Given the description of an element on the screen output the (x, y) to click on. 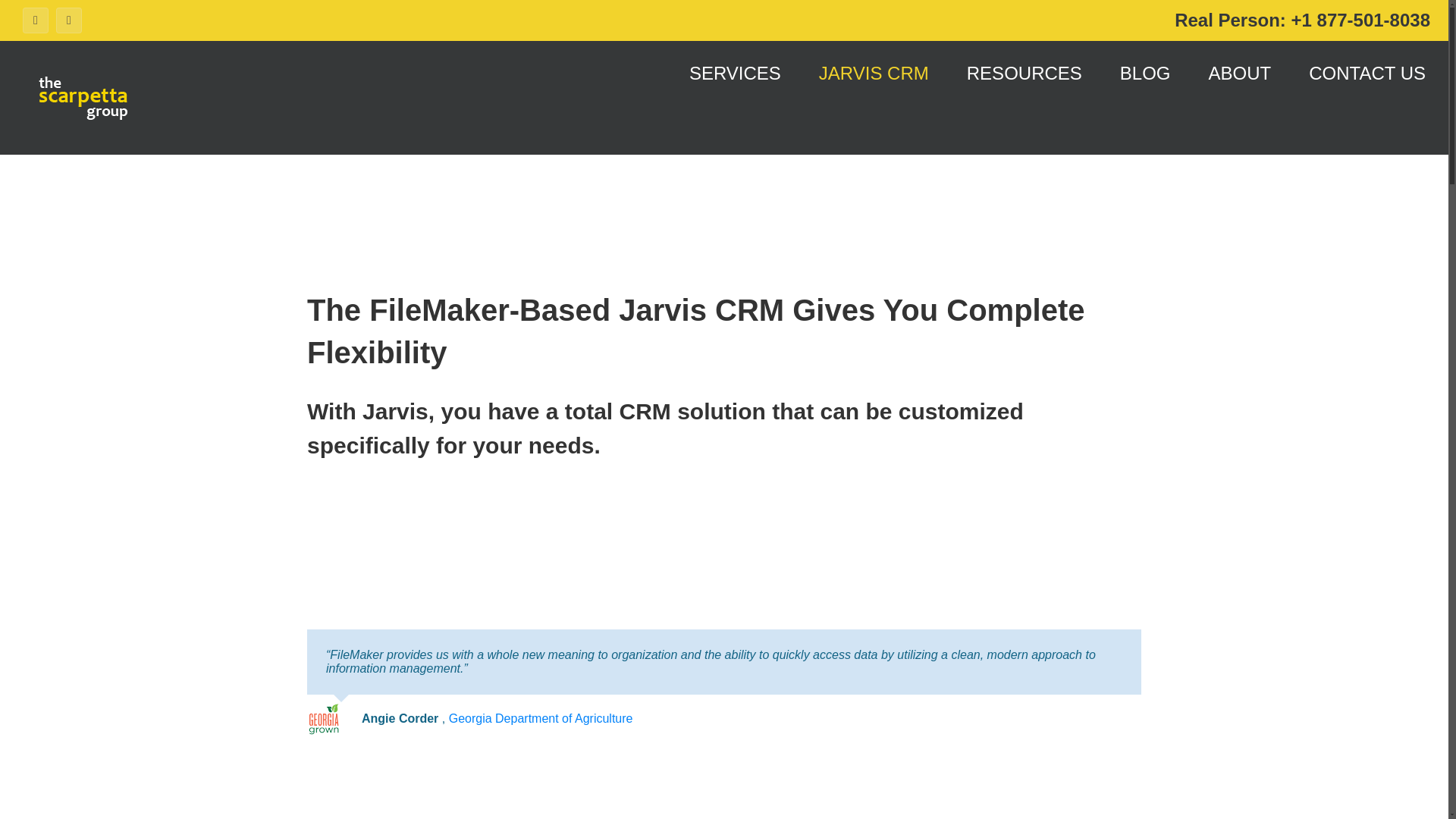
RESOURCES (1023, 73)
SERVICES (734, 73)
JARVIS CRM (873, 73)
Facebook (35, 20)
LinkedIn (68, 20)
ABOUT (1239, 73)
CONTACT US (1366, 73)
LinkedIn (68, 20)
Facebook (35, 20)
